Given the description of an element on the screen output the (x, y) to click on. 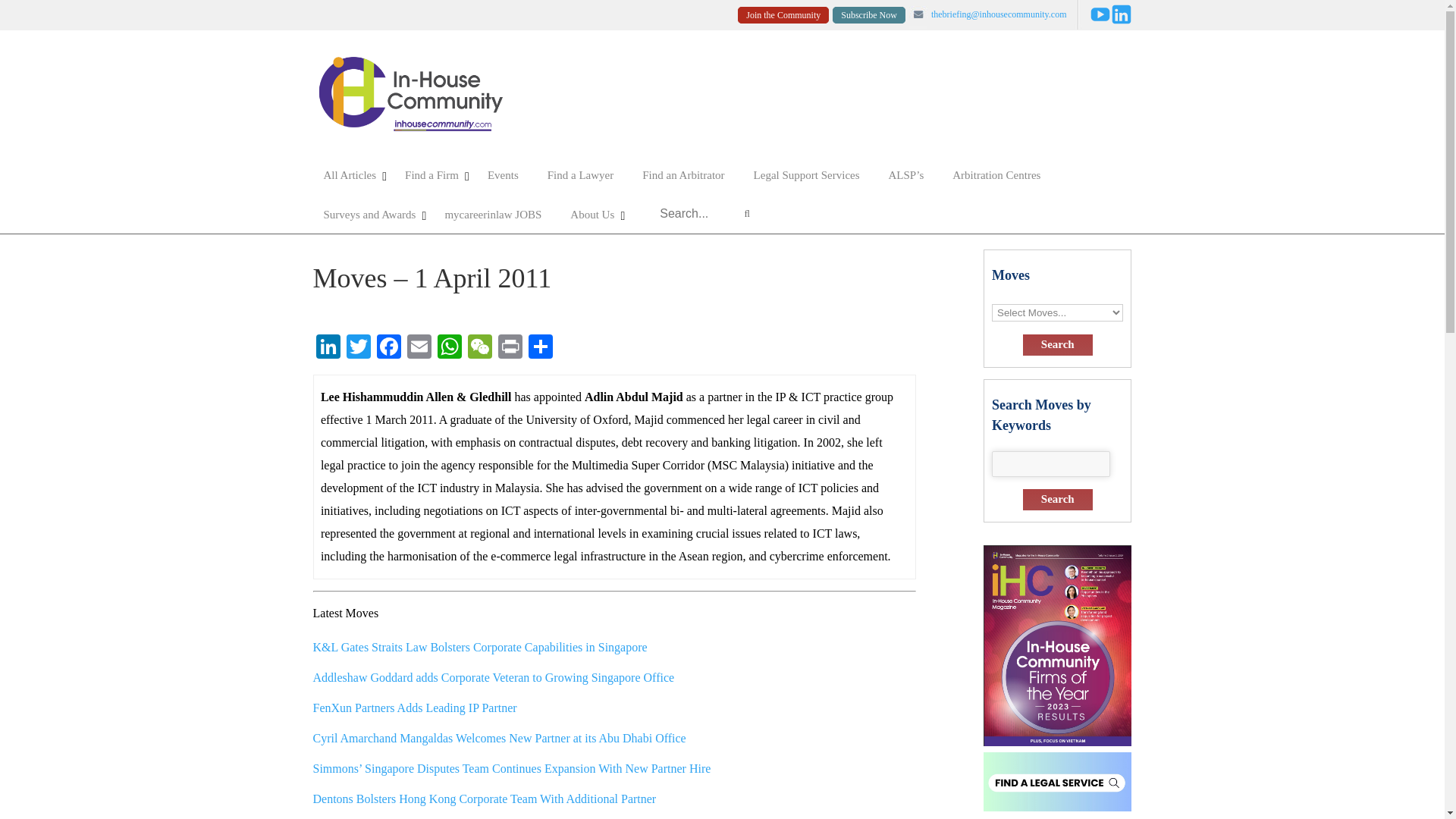
Print (509, 348)
Join the Community (783, 14)
Subscribe Now (868, 14)
Search (1058, 499)
WeChat (479, 348)
LinkedIn (327, 348)
Search (1058, 344)
Email (418, 348)
Twitter (357, 348)
Facebook (387, 348)
WhatsApp (448, 348)
